Given the description of an element on the screen output the (x, y) to click on. 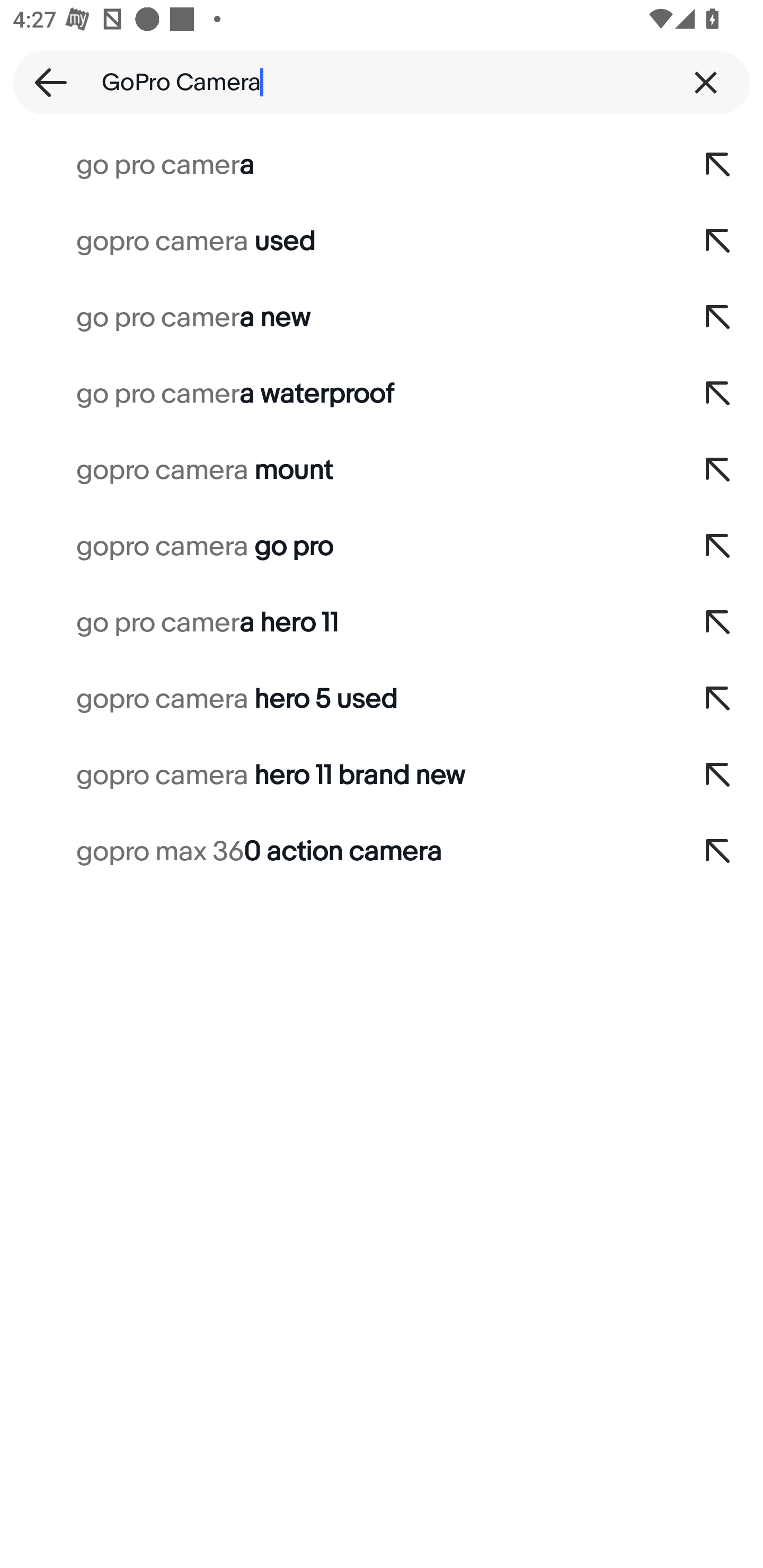
Back (44, 82)
Clear query (705, 82)
GoPro Camera (381, 82)
go pro camera (336, 165)
Add to search query,go pro camera (718, 165)
gopro camera used (336, 241)
Add to search query,gopro camera used (718, 241)
go pro camera new (336, 317)
Add to search query,go pro camera new (718, 317)
go pro camera waterproof (336, 393)
Add to search query,go pro camera waterproof (718, 393)
gopro camera mount (336, 470)
Add to search query,gopro camera mount (718, 470)
gopro camera go pro (336, 546)
Add to search query,gopro camera go pro (718, 546)
go pro camera hero 11 (336, 622)
Add to search query,go pro camera hero 11 (718, 622)
gopro camera hero 5 used (336, 698)
Add to search query,gopro camera hero 5 used (718, 698)
gopro camera hero 11 brand new (336, 774)
Add to search query,gopro camera hero 11 brand new (718, 774)
gopro max 360 action camera (336, 851)
Add to search query,gopro max 360 action camera (718, 851)
